Given the description of an element on the screen output the (x, y) to click on. 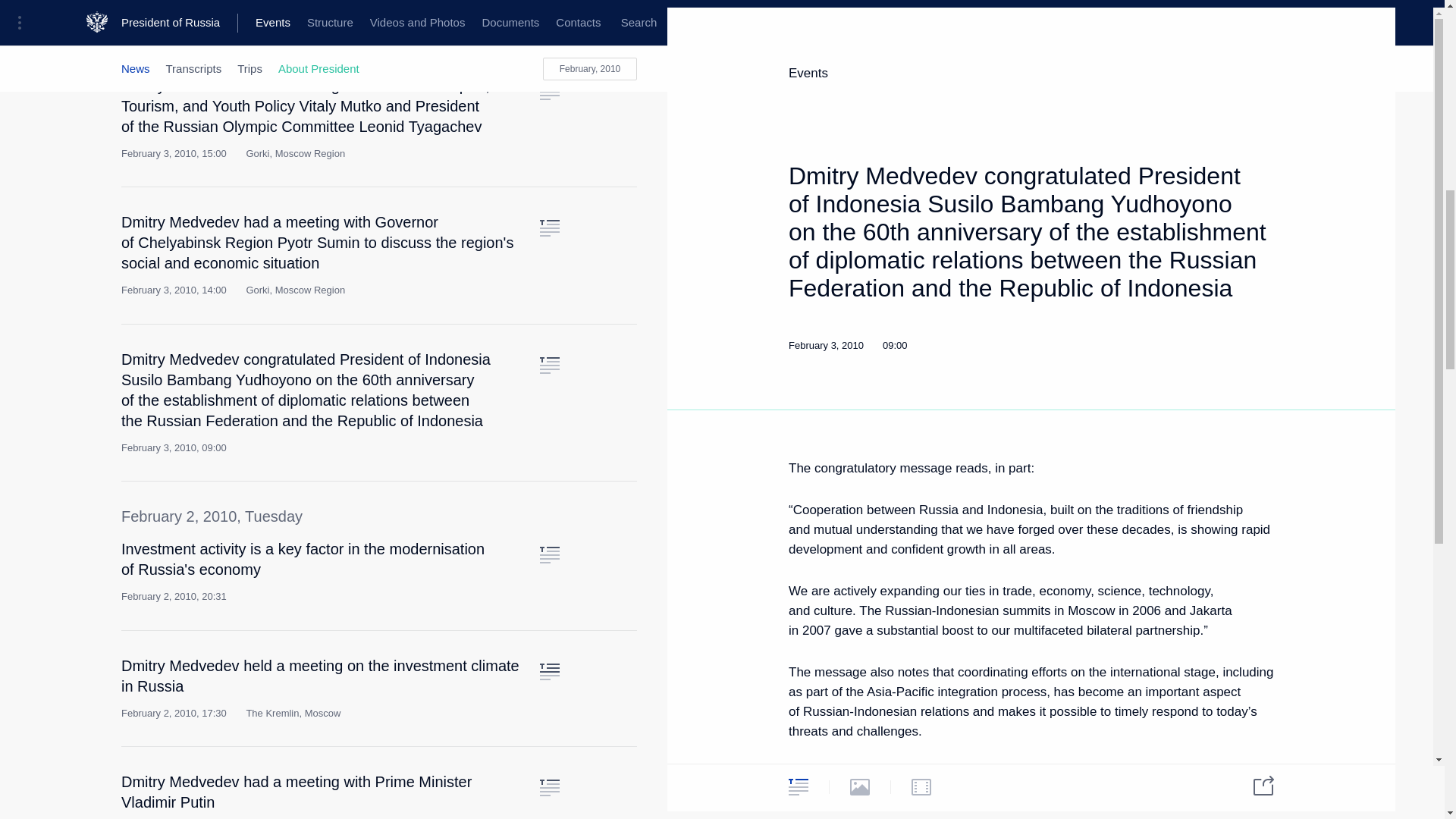
Text of the article (549, 228)
Text of the article (549, 671)
Text of the article (549, 787)
Text of the article (549, 365)
Text of the article (549, 555)
Text of the article (549, 91)
